Given the description of an element on the screen output the (x, y) to click on. 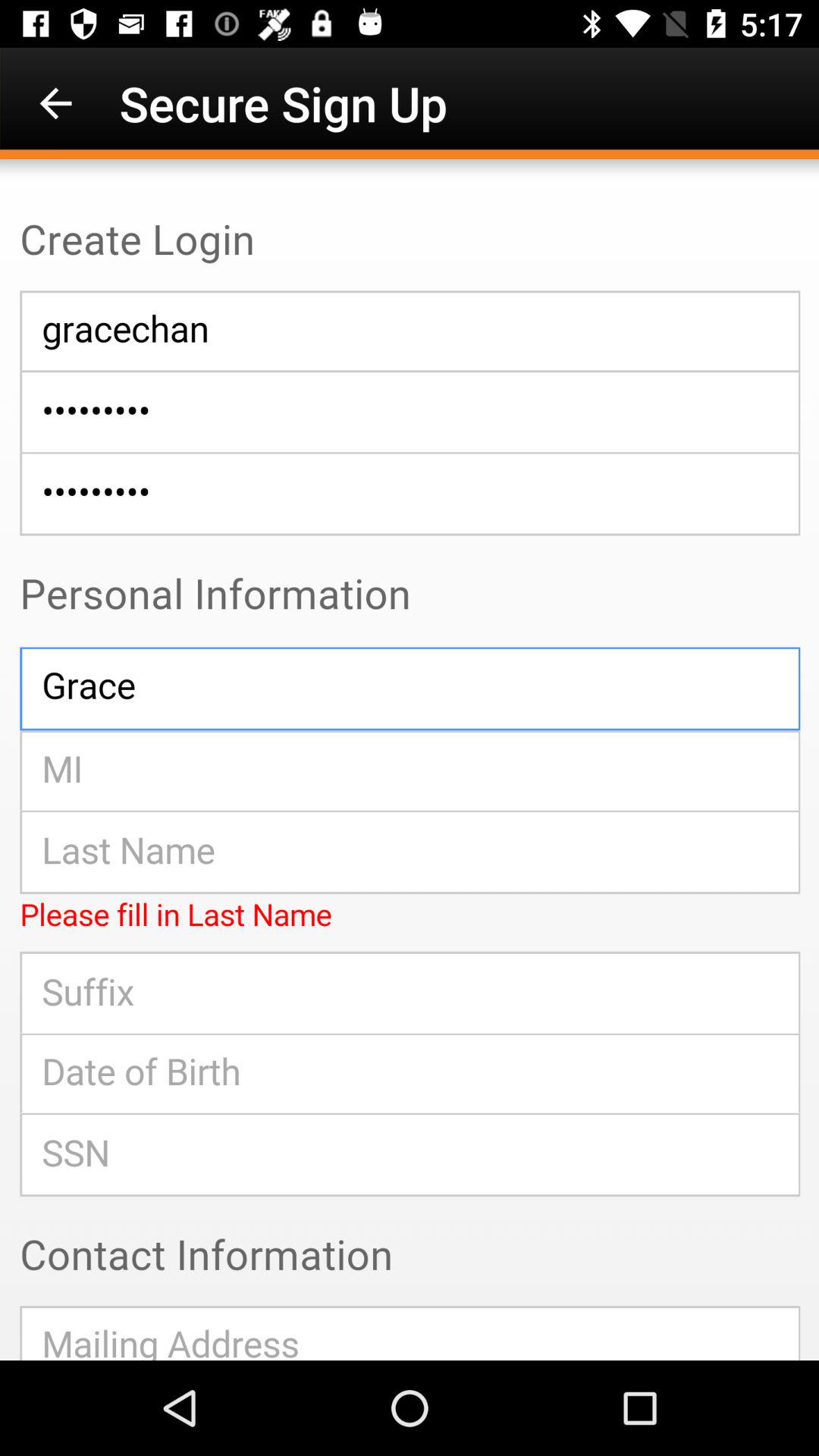
login page (409, 759)
